Given the description of an element on the screen output the (x, y) to click on. 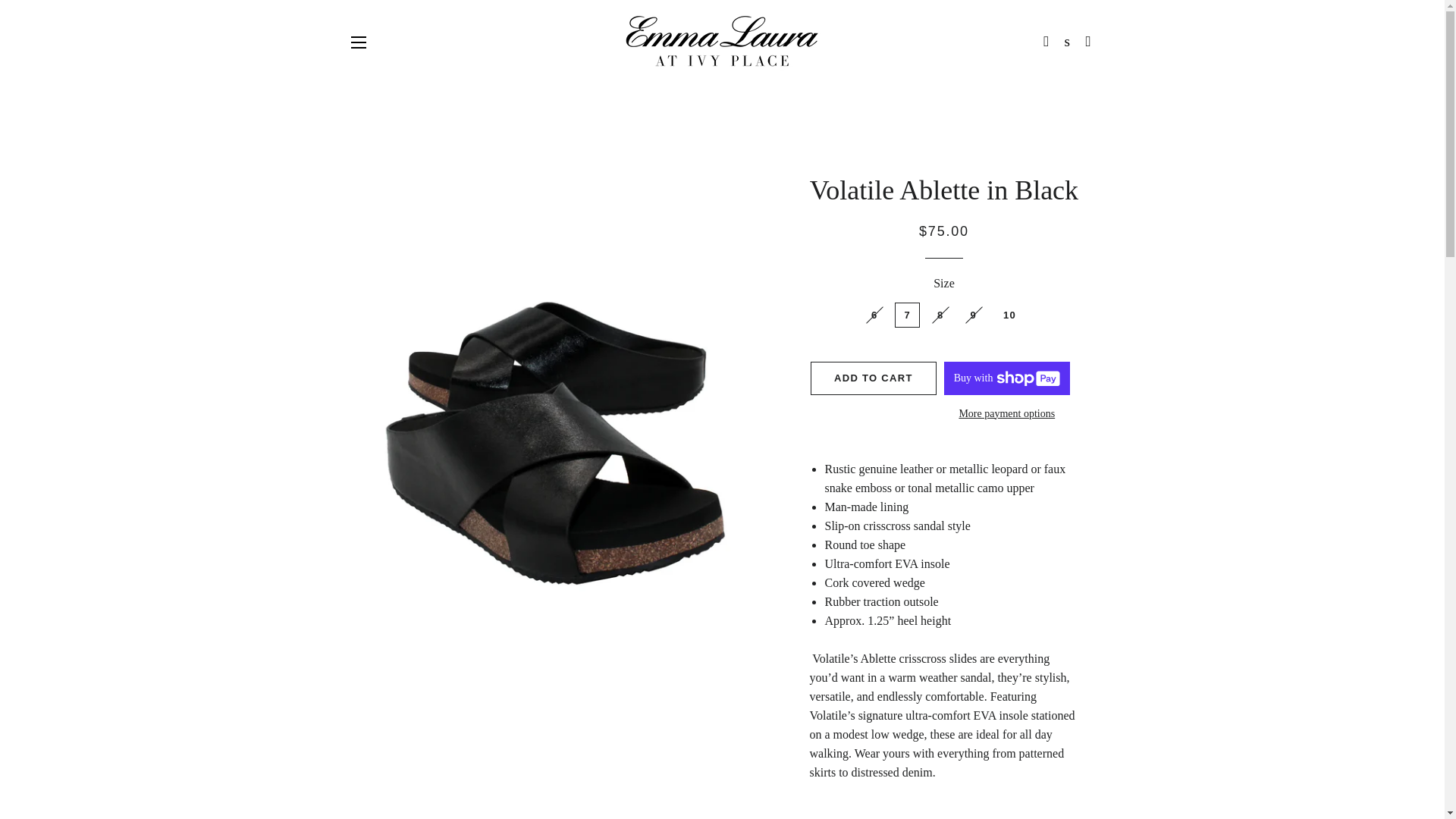
SITE NAVIGATION (358, 41)
